Given the description of an element on the screen output the (x, y) to click on. 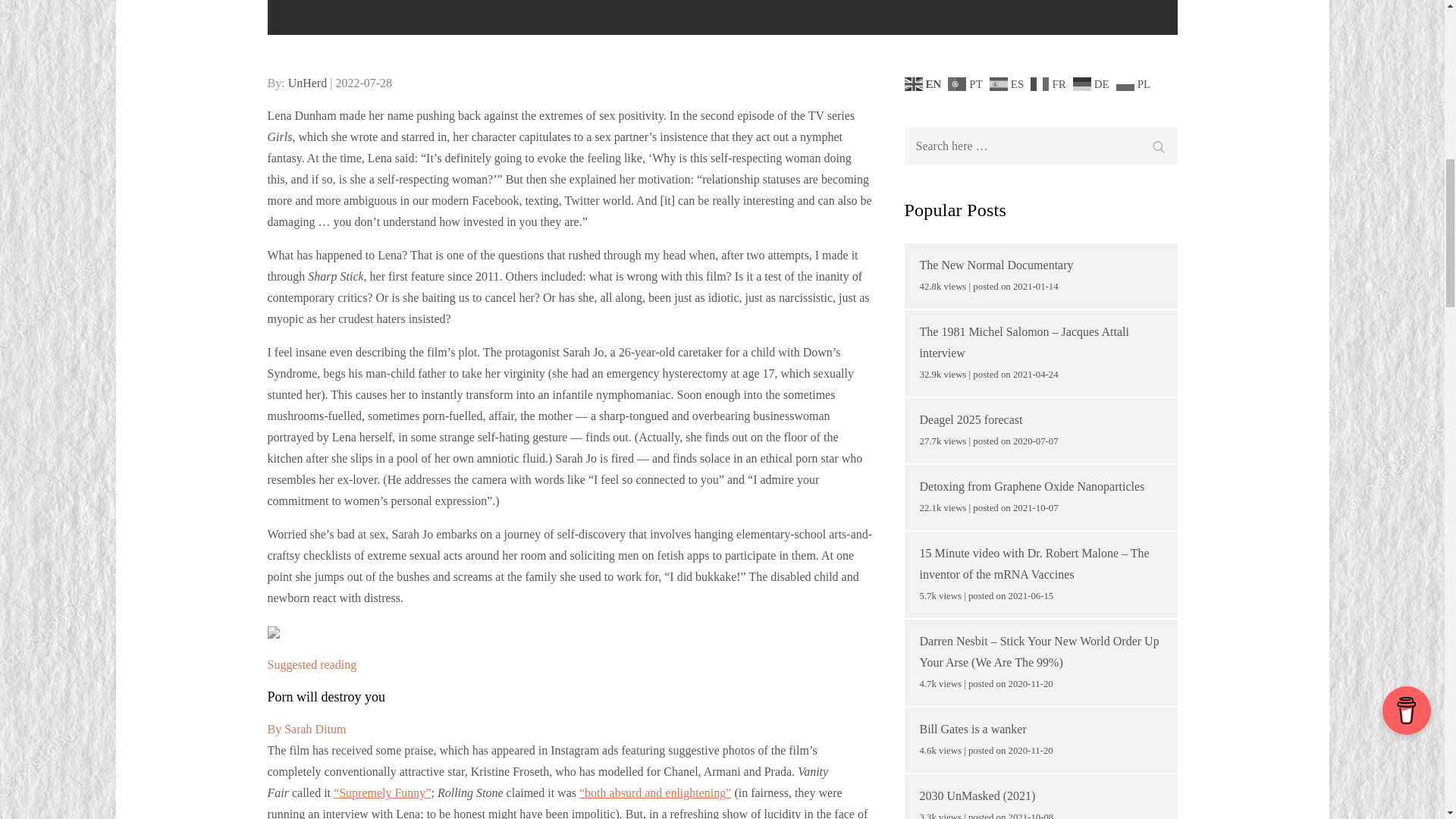
French (1049, 82)
Spanish (1008, 82)
Portuguese (967, 82)
English (924, 82)
German (1093, 82)
Polish (1135, 82)
